Given the description of an element on the screen output the (x, y) to click on. 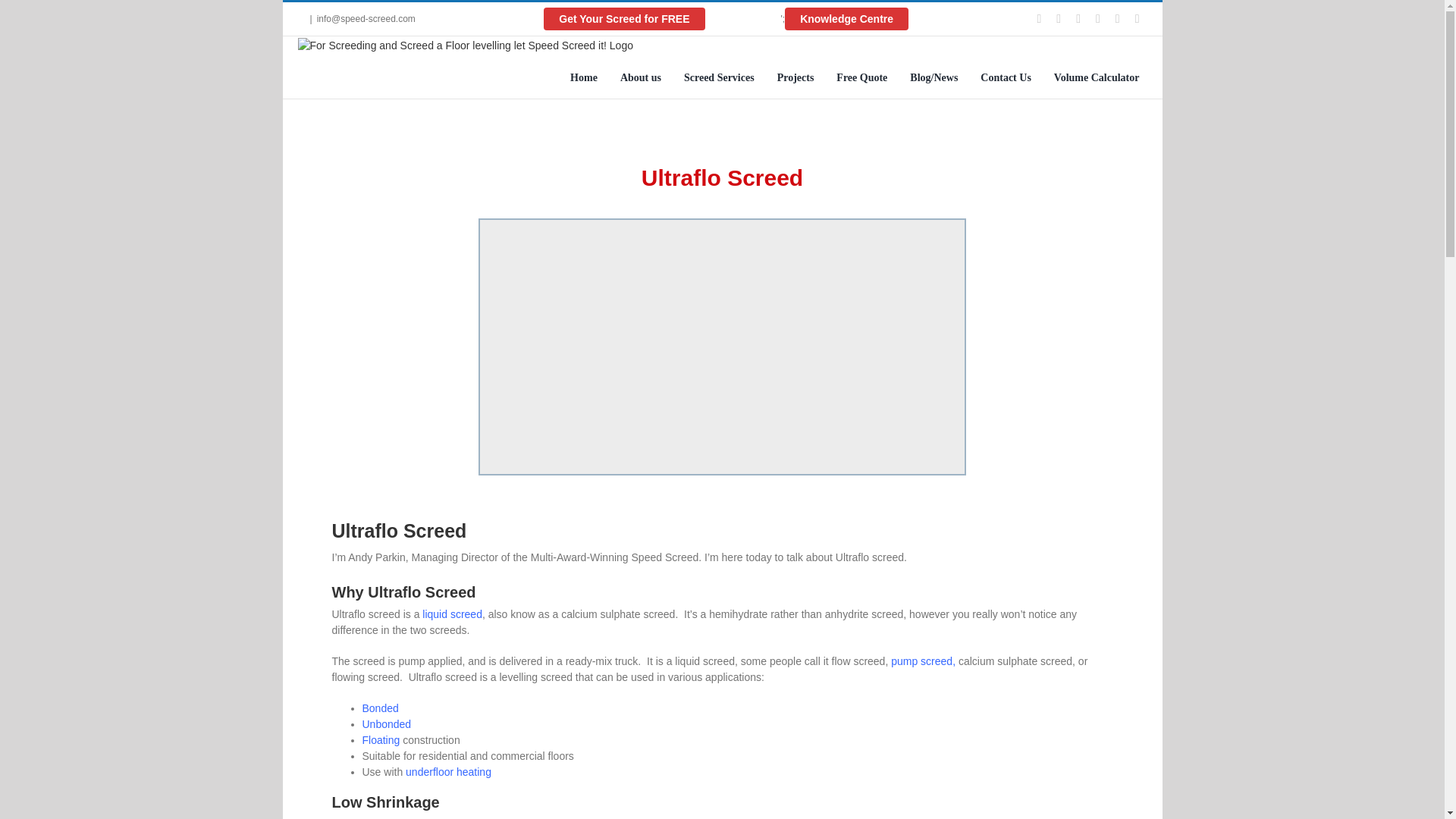
About us (640, 76)
Free Quote (860, 76)
Contact Us (1004, 76)
Knowledge Centre (846, 18)
Ultraflo Screed (721, 158)
Screed Services (719, 76)
Volume Calculator (1097, 76)
Get Your Screed for FREE (661, 18)
